Given the description of an element on the screen output the (x, y) to click on. 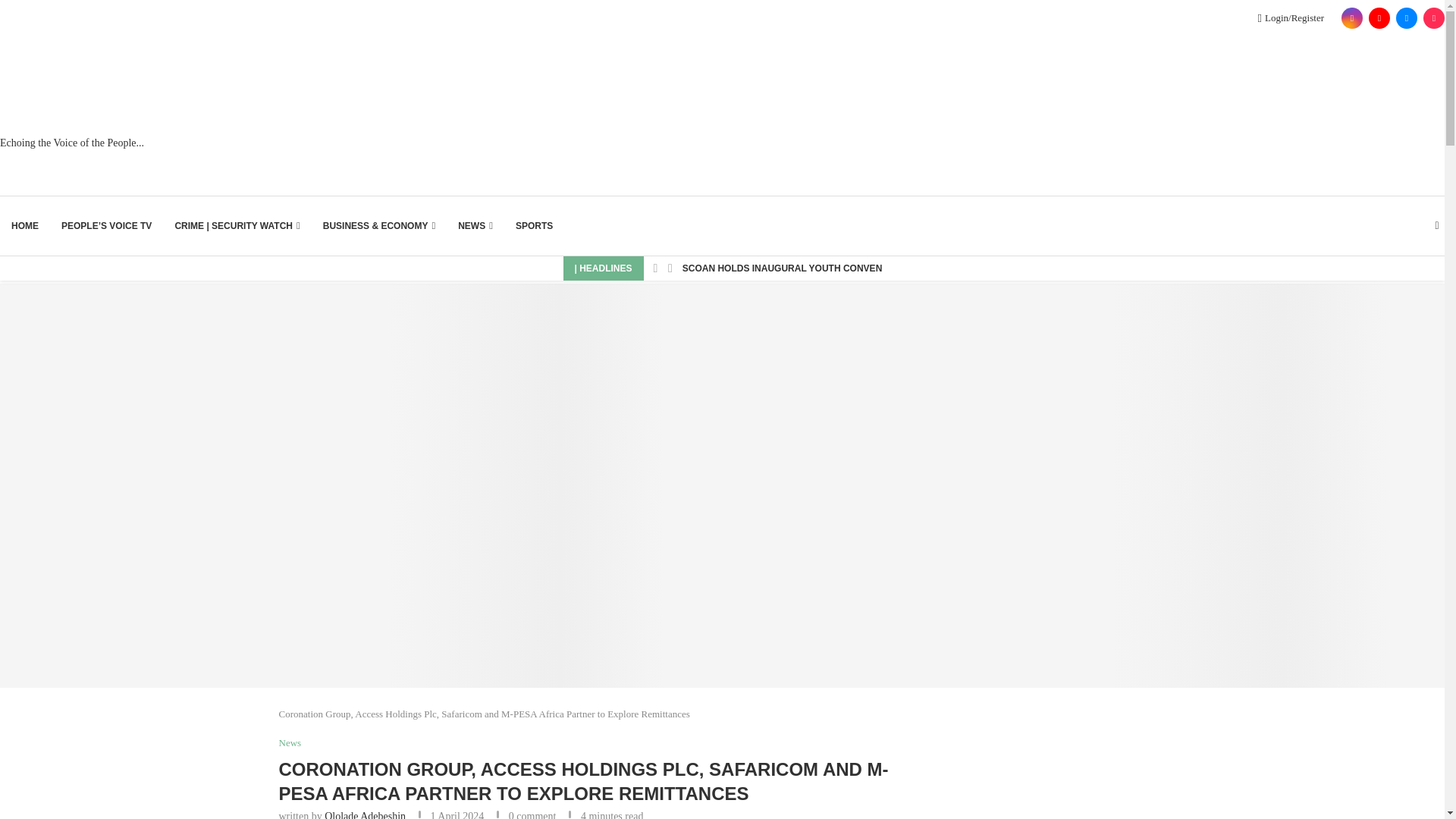
Echoing the Voice of the People... (72, 115)
